Given the description of an element on the screen output the (x, y) to click on. 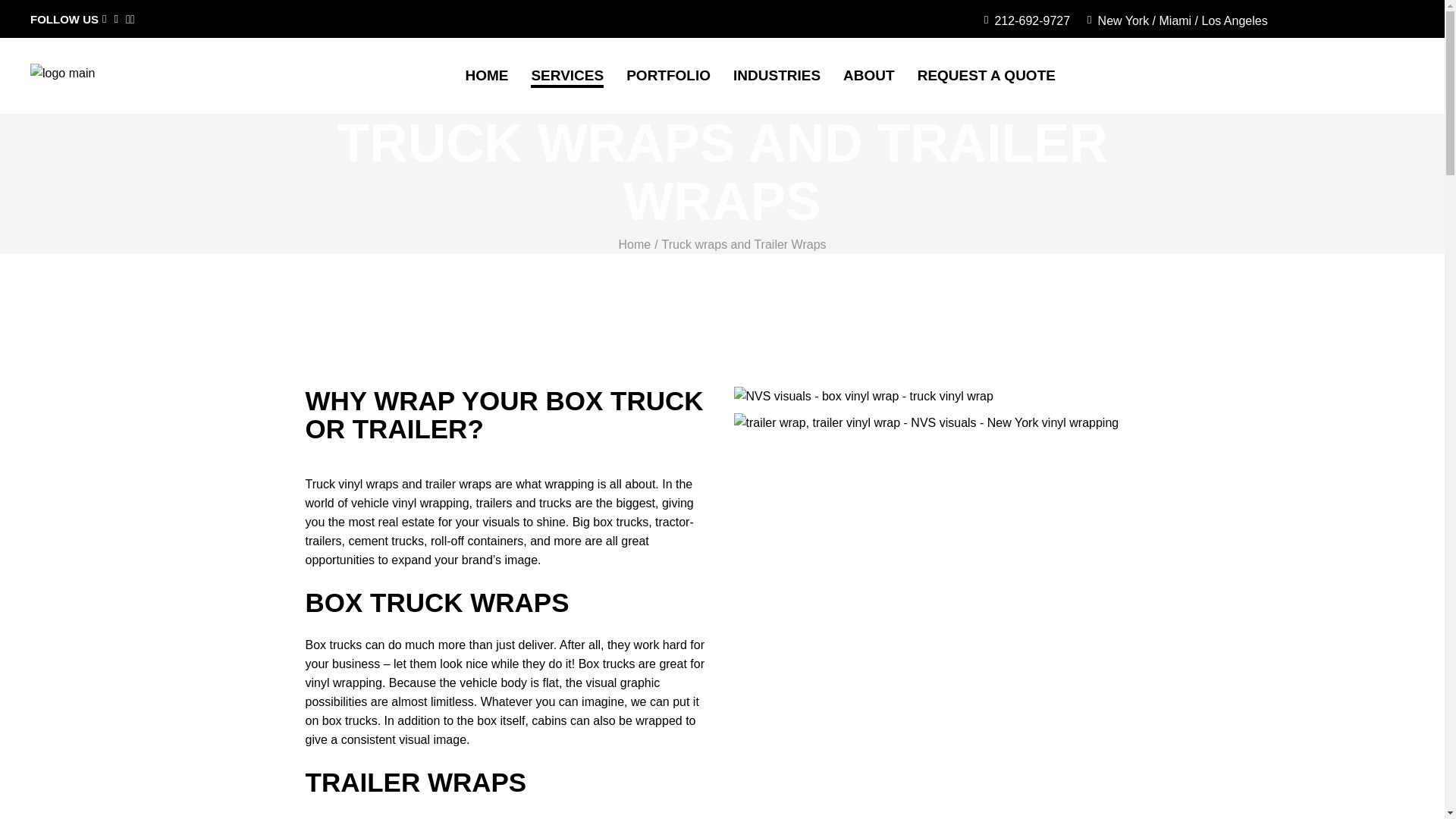
NVS-Visuals-Truck-trailers-wrap7 (926, 422)
PORTFOLIO (668, 75)
212-692-9727 (1027, 19)
HOME (486, 75)
NVS-Visuals-Truck-trailers-wrap5 (862, 395)
SERVICES (567, 75)
